Given the description of an element on the screen output the (x, y) to click on. 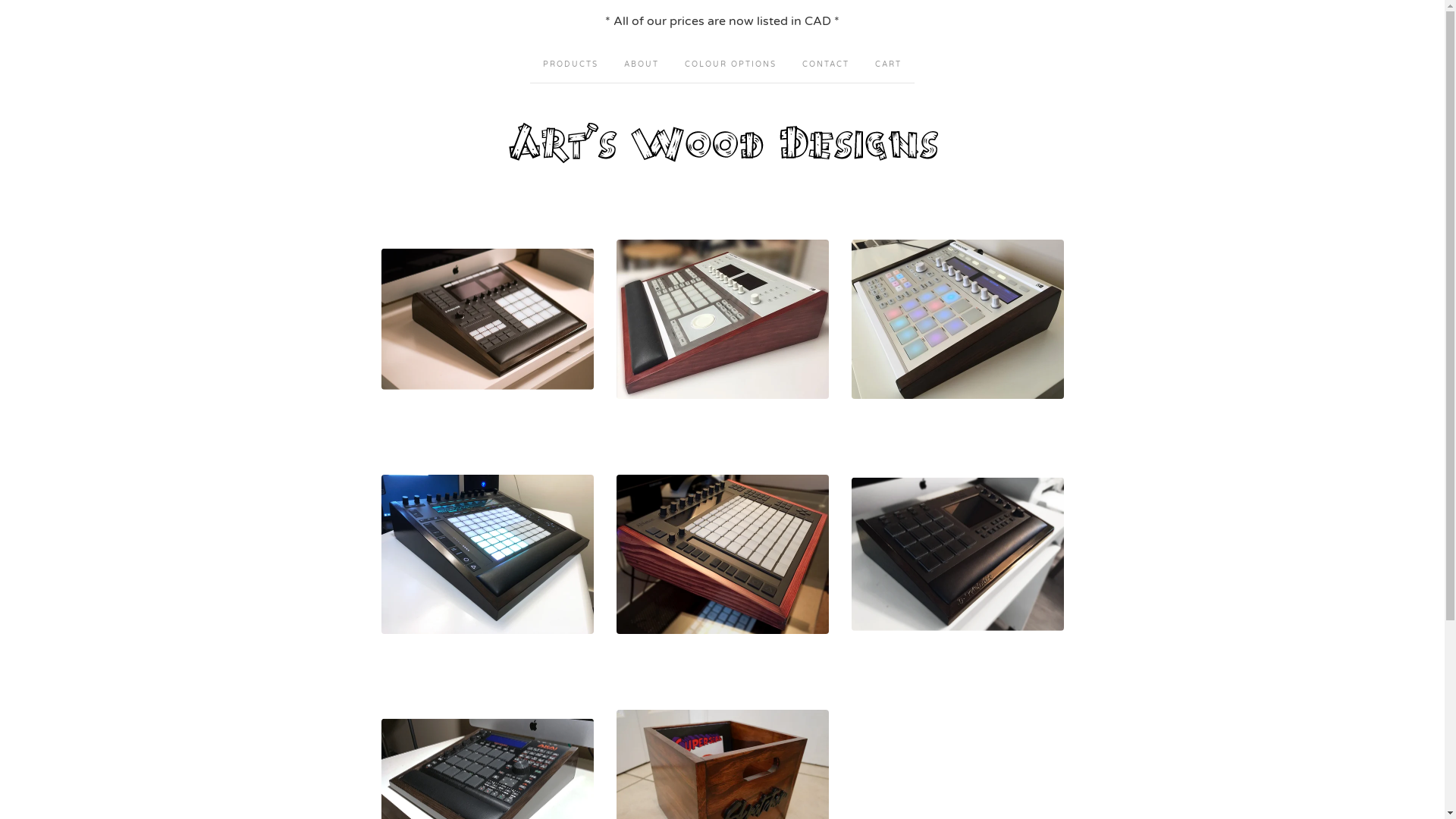
View Ableton Push Stand Type II (for Push 1 or 2) Element type: hover (721, 553)
View Maschine MK3 Stand w/ Hand Rest Element type: hover (486, 318)
View MPC Touch Stand w/ Hand Rest Element type: hover (956, 553)
CART Element type: text (888, 62)
CONTACT Element type: text (825, 62)
View Maschine MK2 Side Panels (Stand) Element type: hover (956, 318)
View Ableton Push Stand w/ Hand Rest (for Push 1 or 2) Element type: hover (486, 553)
ABOUT Element type: text (641, 62)
View Maschine Studio Stand w/ Hand Rest Element type: hover (721, 318)
PRODUCTS Element type: text (570, 62)
COLOUR OPTIONS Element type: text (730, 62)
